Given the description of an element on the screen output the (x, y) to click on. 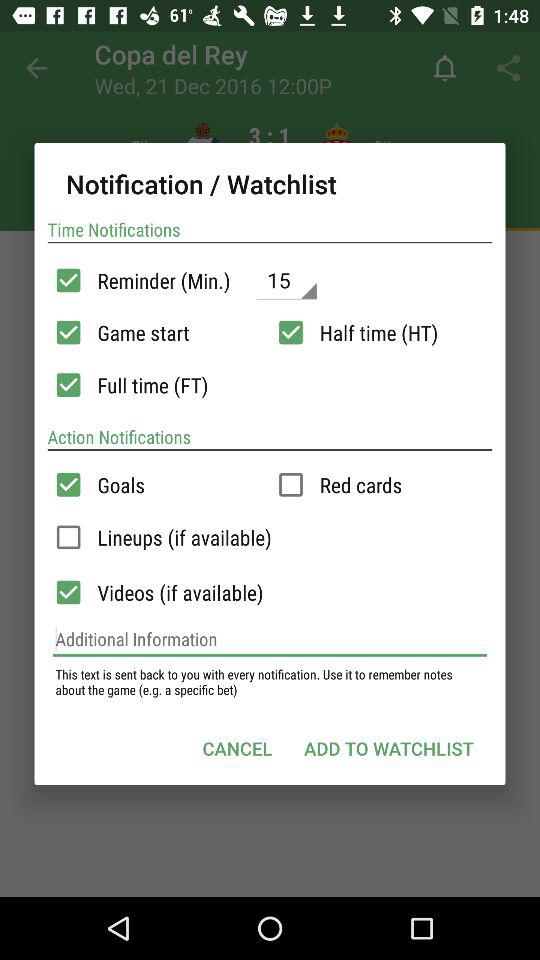
time setting in scroll (290, 332)
